Given the description of an element on the screen output the (x, y) to click on. 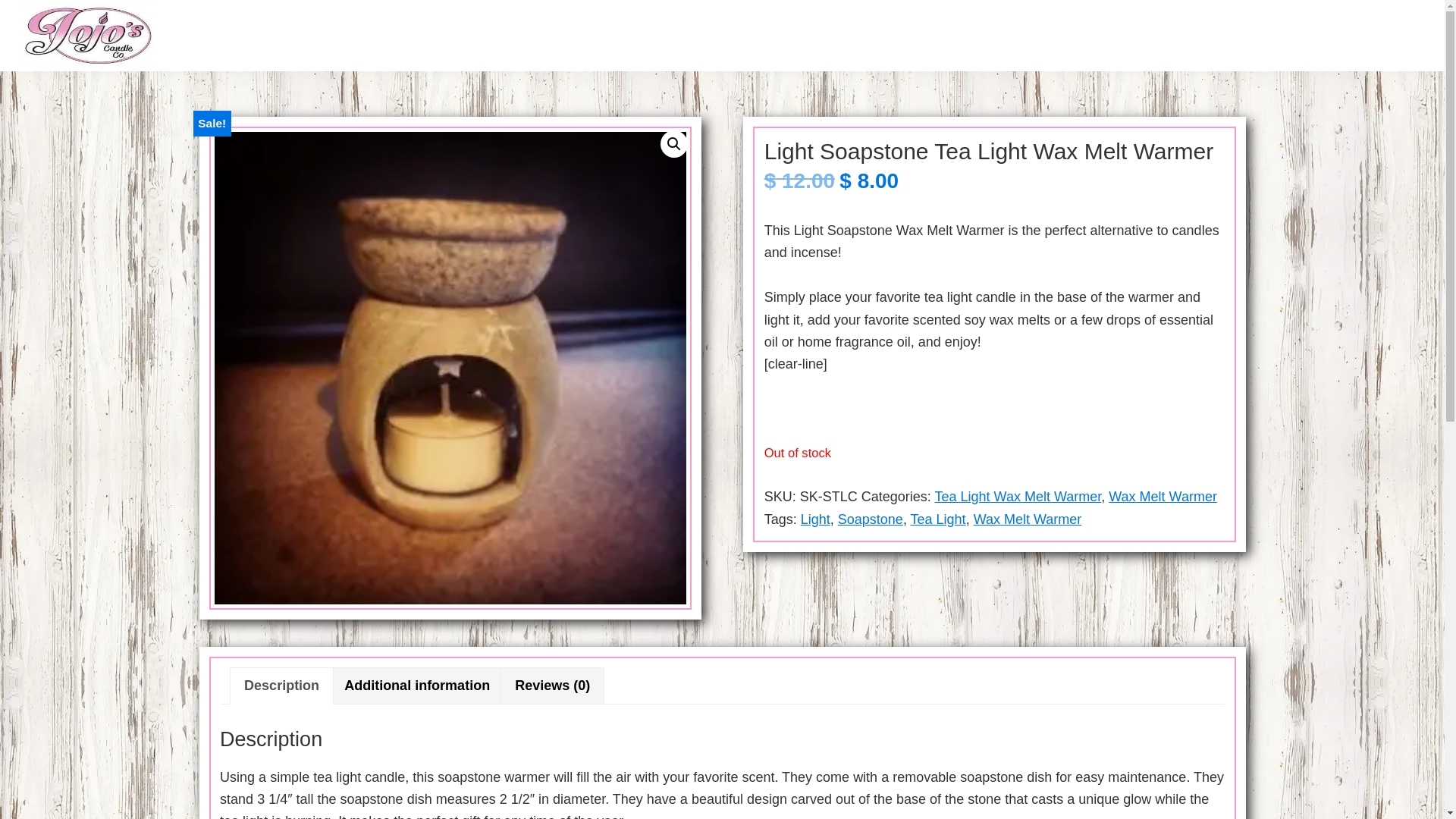
Soapstone (870, 519)
Wax Melt Warmer (1027, 519)
Additional information (416, 685)
Tea Light Wax Melt Warmer (1017, 496)
Tea Light (938, 519)
Light (814, 519)
Description (281, 685)
Wax Melt Warmer (1162, 496)
